Given the description of an element on the screen output the (x, y) to click on. 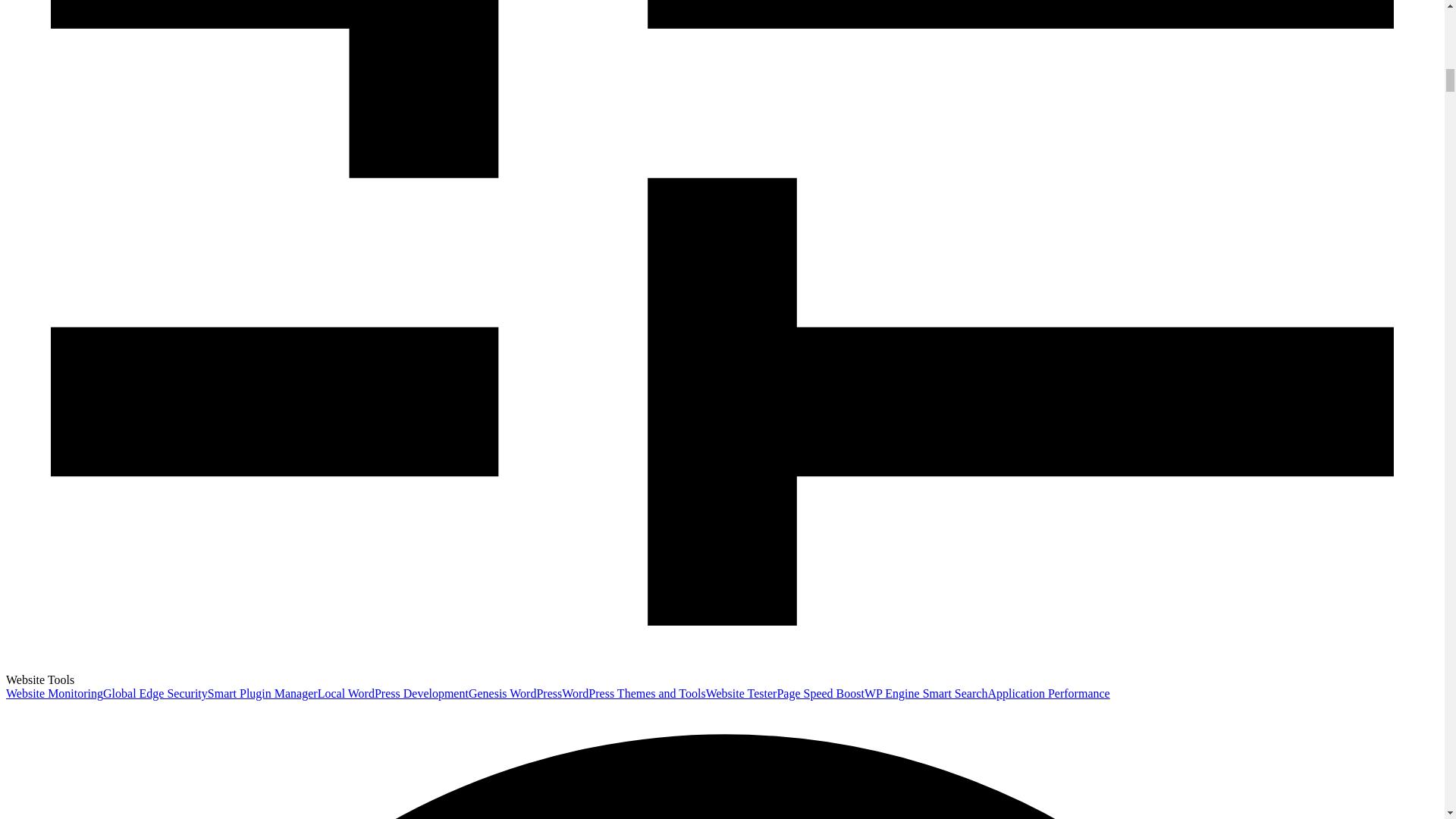
WP Engine Smart Search (925, 693)
Global Edge Security (155, 693)
Website Monitoring (54, 693)
Local WordPress Development (392, 693)
Smart Plugin Manager (262, 693)
WordPress Themes and Tools (633, 693)
Genesis WordPress (515, 693)
Website Tester (741, 693)
Page Speed Boost (820, 693)
Application Performance (1048, 693)
